Given the description of an element on the screen output the (x, y) to click on. 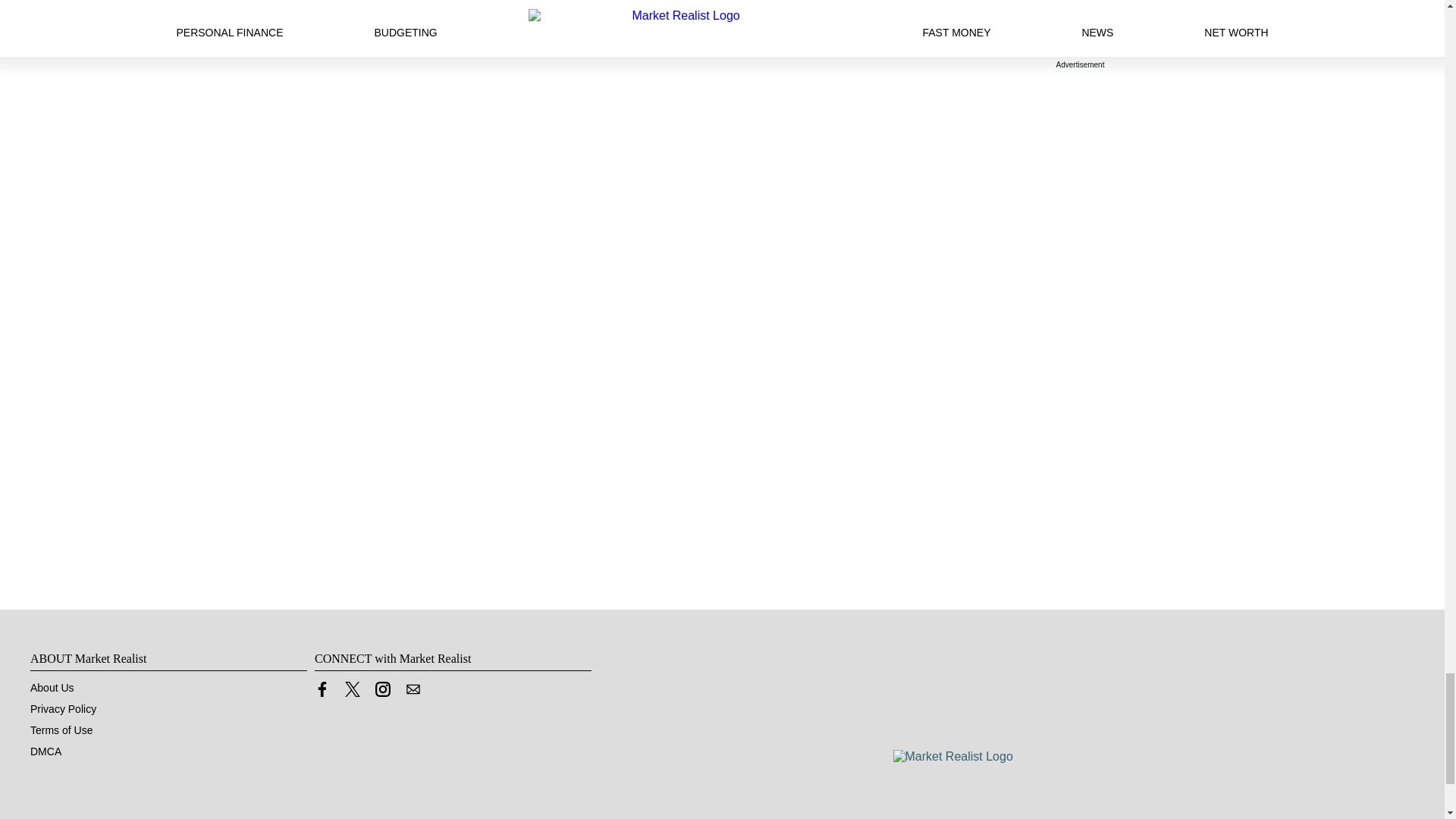
Privacy Policy (63, 708)
Terms of Use (61, 729)
DMCA (45, 751)
Contact us by Email (413, 688)
Terms of Use (61, 729)
Link to X (352, 688)
Link to Instagram (382, 693)
About Us (52, 687)
DMCA (45, 751)
Privacy Policy (63, 708)
